Given the description of an element on the screen output the (x, y) to click on. 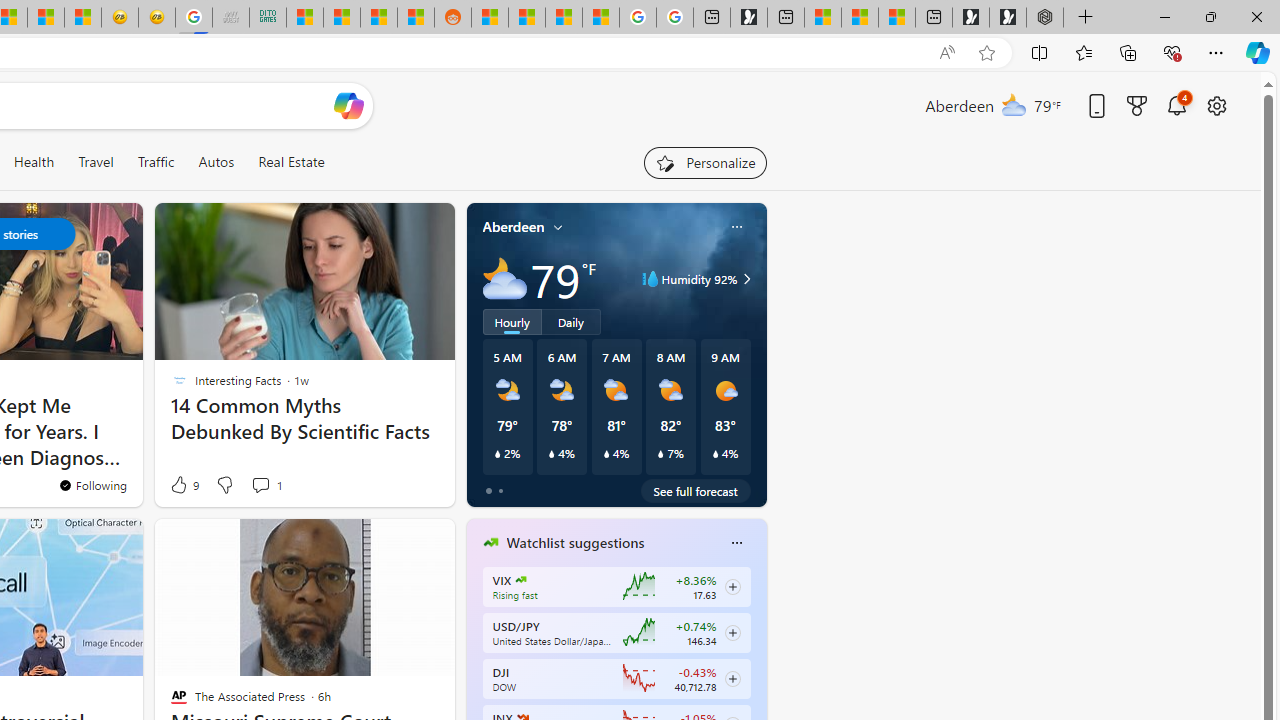
9 Like (183, 484)
Aberdeen (513, 227)
Class: weather-arrow-glyph (746, 278)
